Given the description of an element on the screen output the (x, y) to click on. 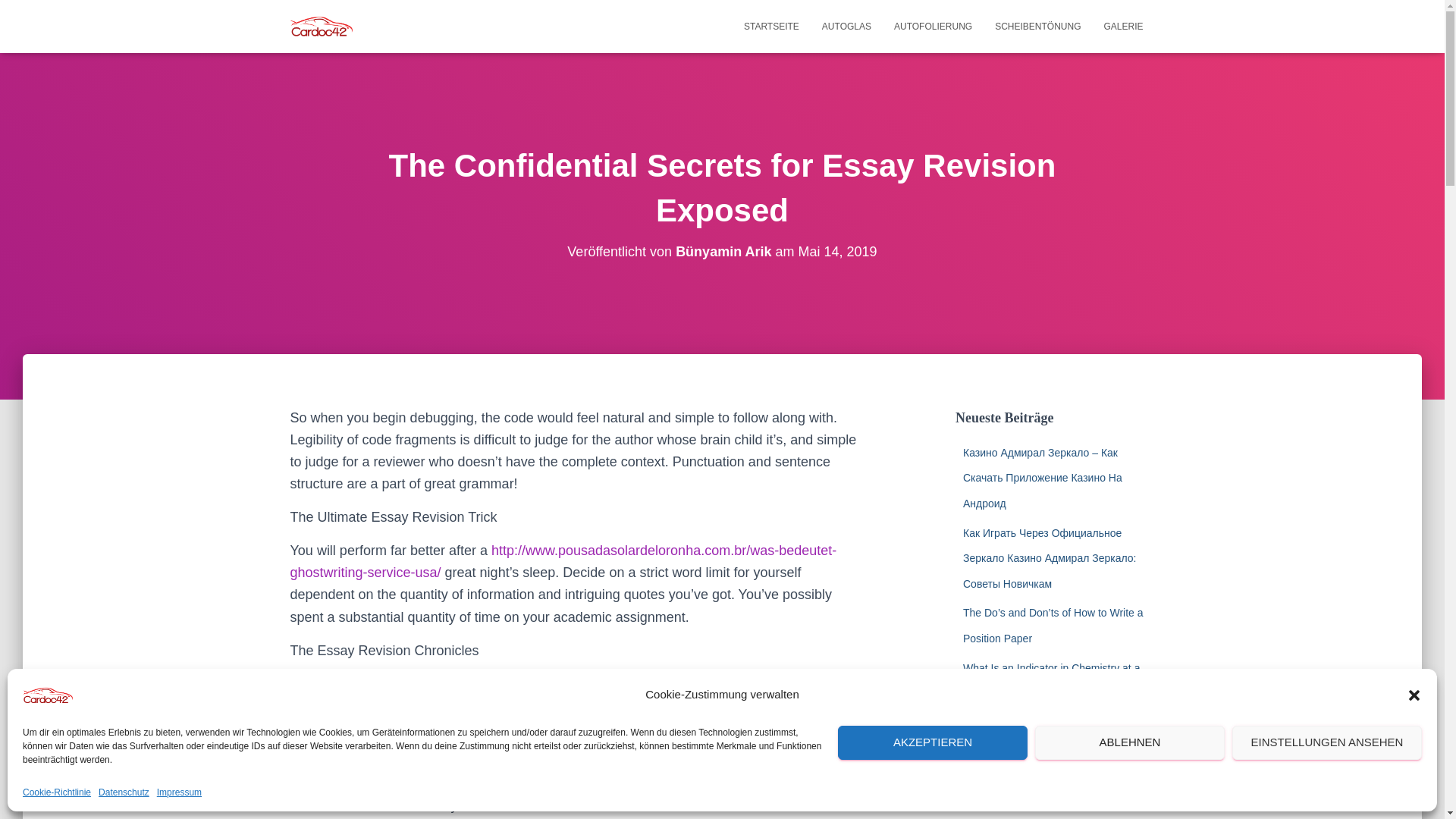
Datenschutz (124, 792)
Autofolierung (933, 26)
Cardoc42 (322, 26)
ABLEHNEN (1129, 742)
Autoglas (846, 26)
EINSTELLUNGEN ANSEHEN (1326, 742)
Startseite (771, 26)
AUTOGLAS (846, 26)
Impressum (179, 792)
Galerie (1123, 26)
